Given the description of an element on the screen output the (x, y) to click on. 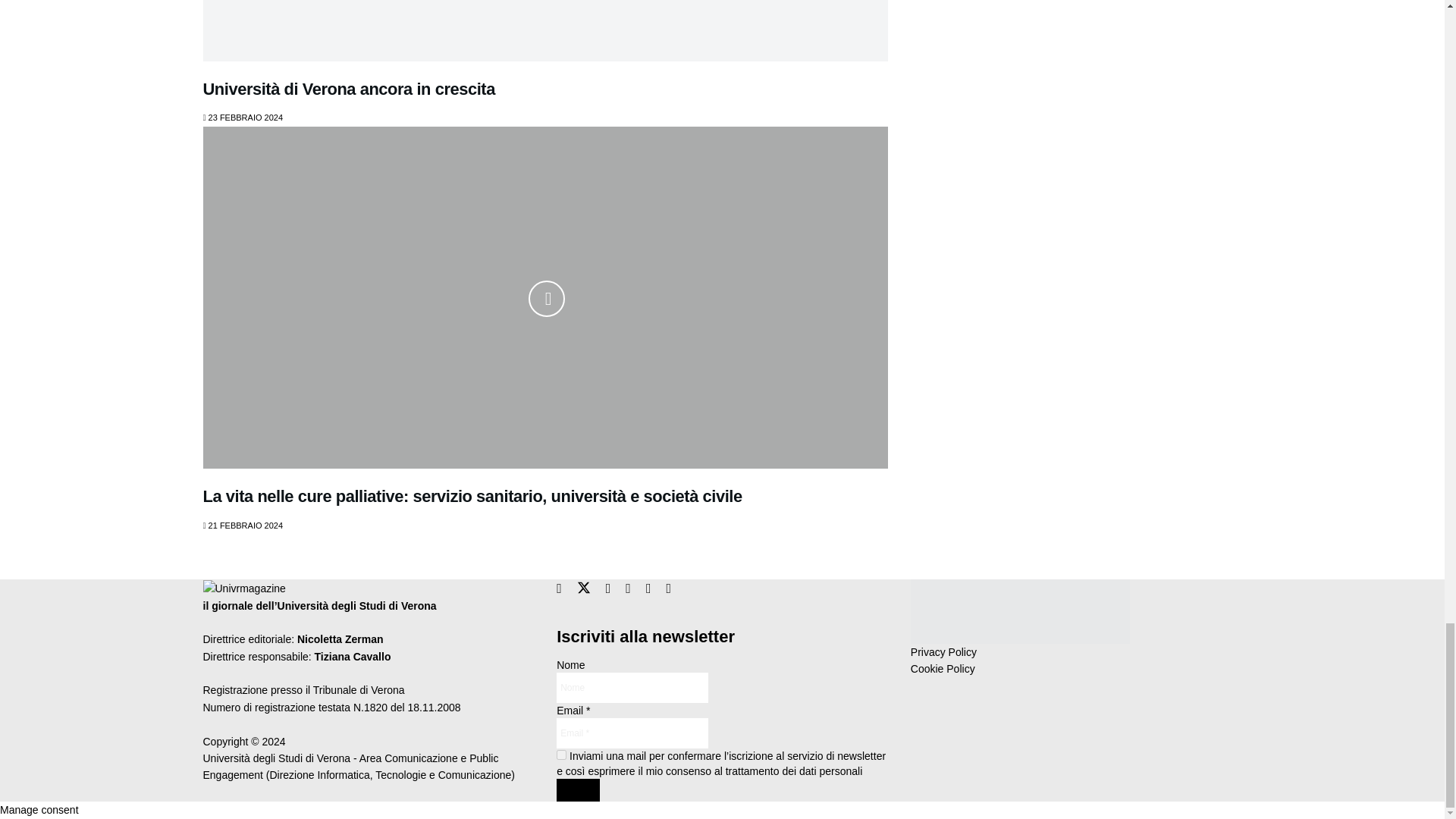
1 (561, 755)
Iscriviti (577, 789)
Nome (631, 687)
Email (631, 733)
